Given the description of an element on the screen output the (x, y) to click on. 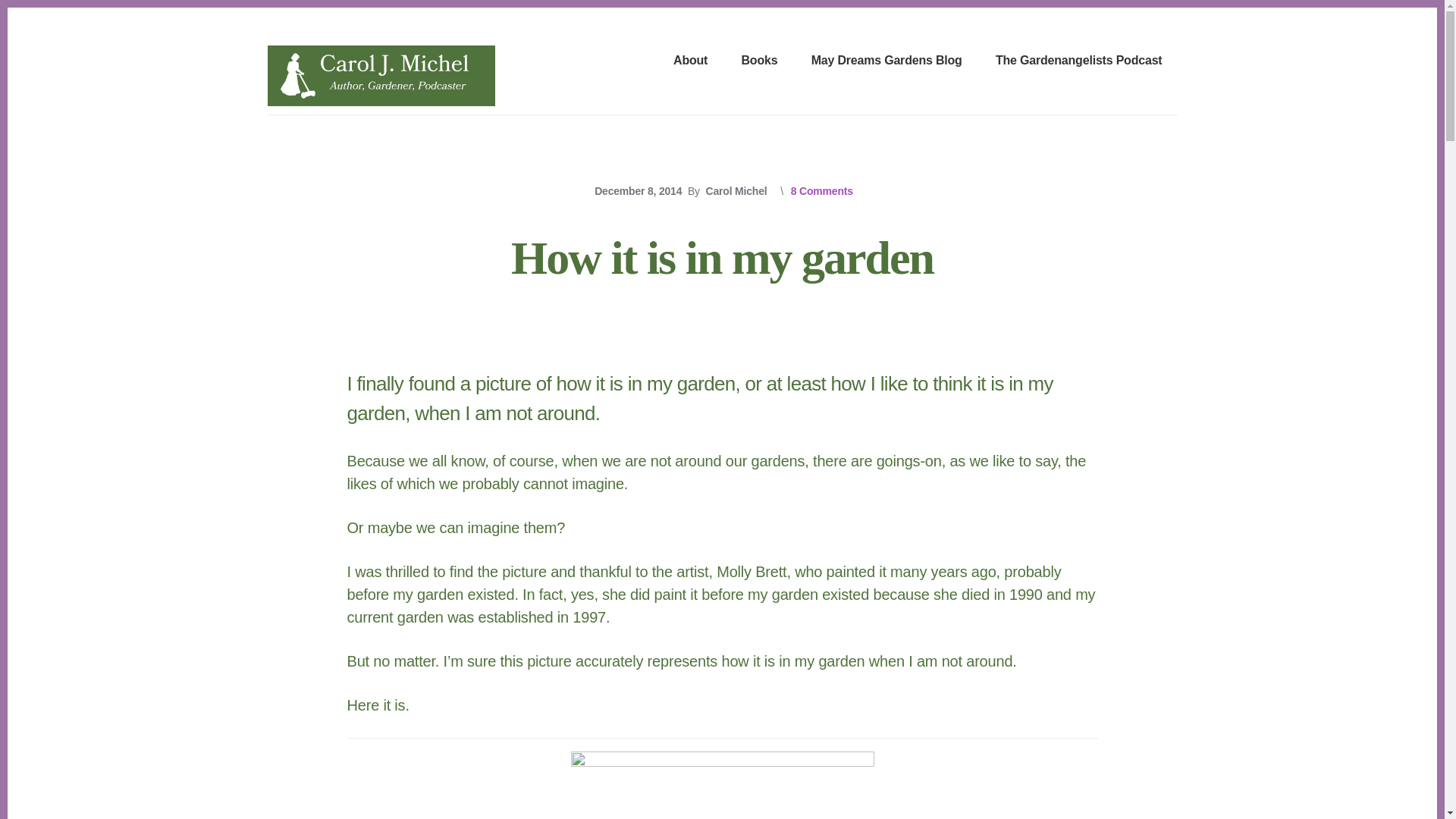
About (689, 61)
Books (759, 61)
8 Comments (821, 191)
Carol Michel (736, 191)
May Dreams Gardens Blog (886, 61)
The Gardenangelists Podcast (1079, 61)
